Given the description of an element on the screen output the (x, y) to click on. 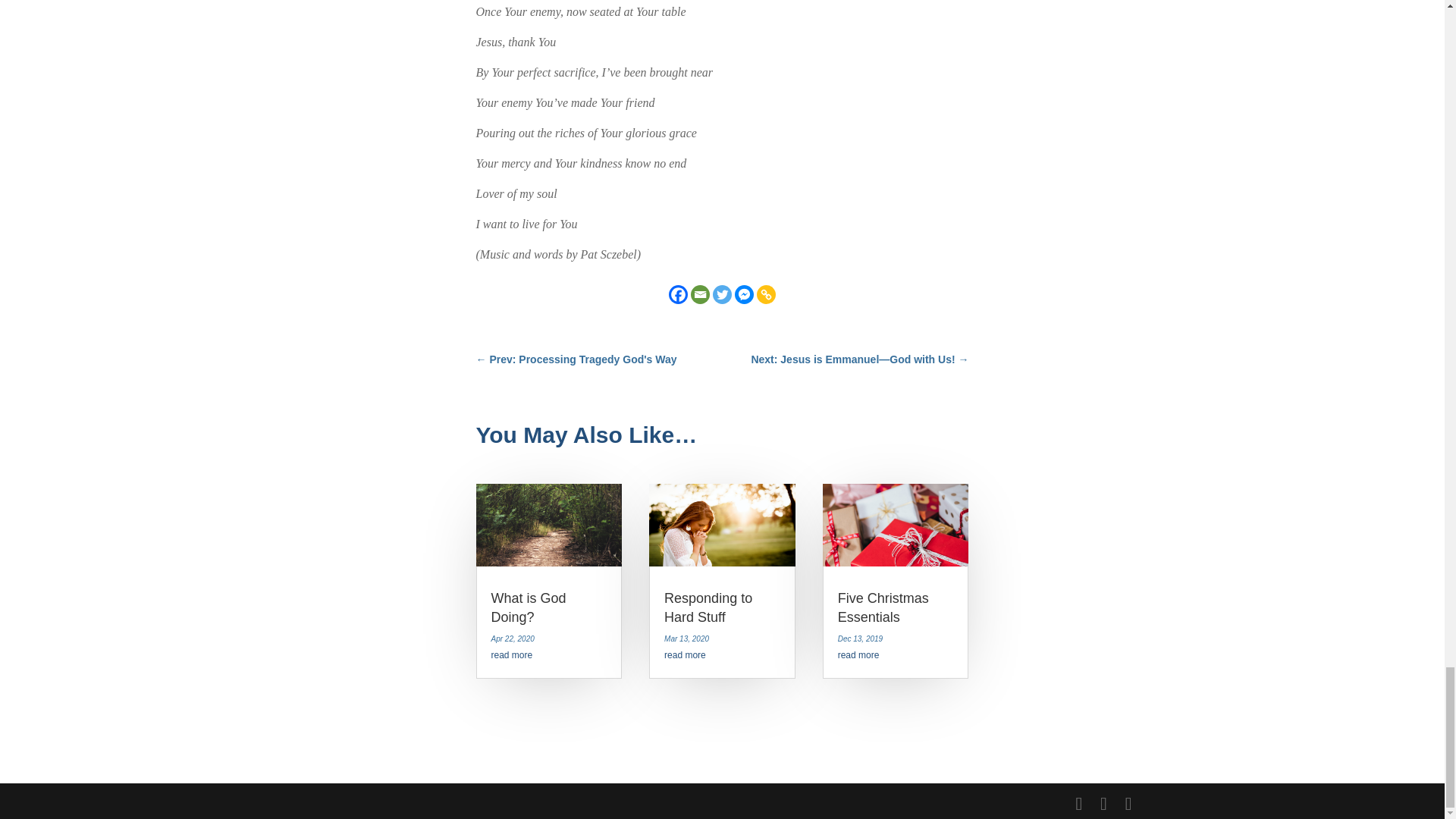
Email (700, 294)
Twitter (722, 294)
Copy Link (766, 294)
read more (684, 655)
What is God Doing? (529, 607)
Responding to Hard Stuff (707, 607)
read more (512, 655)
Facebook (677, 294)
